Given the description of an element on the screen output the (x, y) to click on. 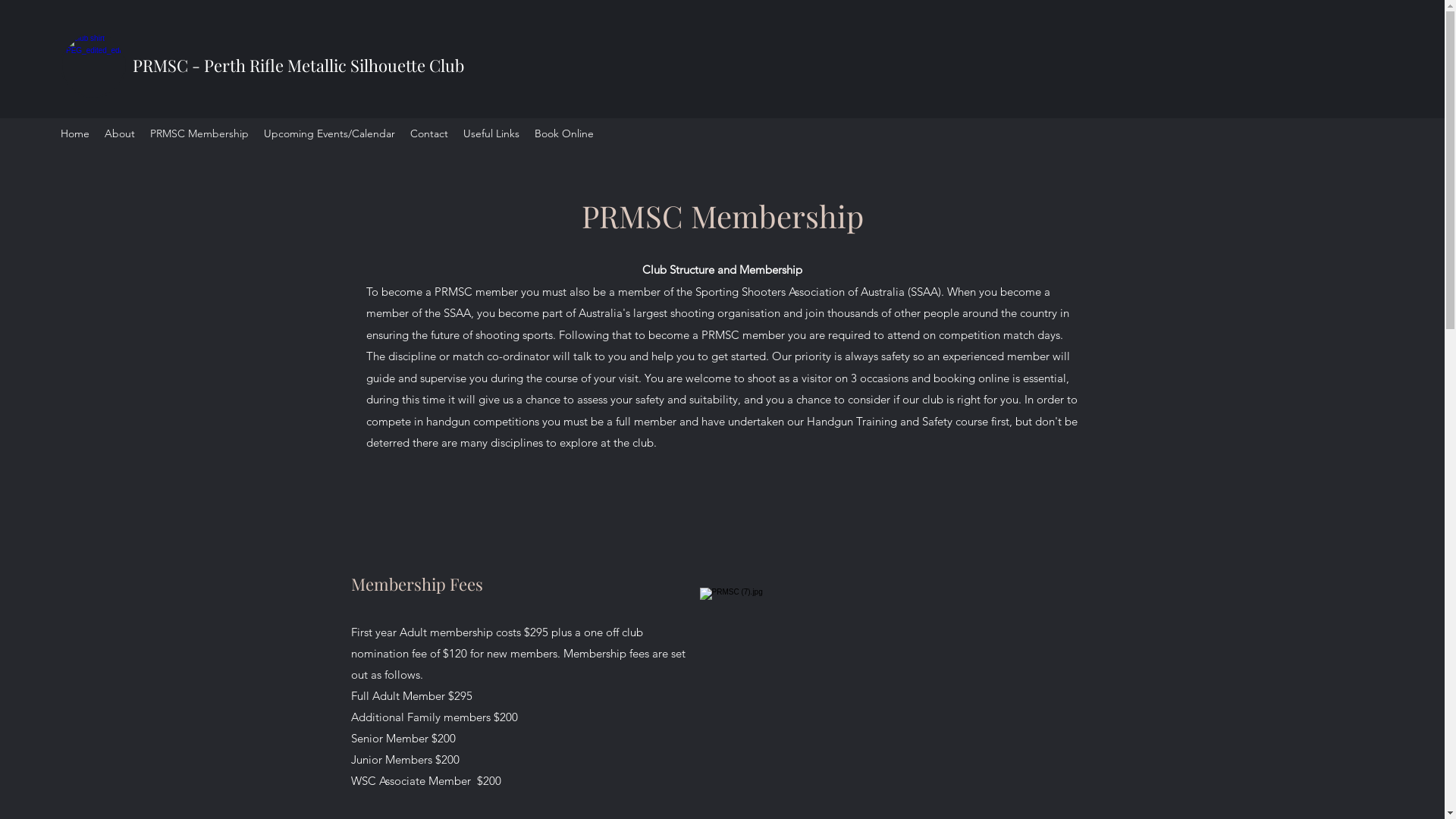
Book Online Element type: text (564, 133)
Contact Element type: text (428, 133)
About Element type: text (119, 133)
Upcoming Events/Calendar Element type: text (329, 133)
PRMSC Membership Element type: text (199, 133)
PRMSC - Perth Rifle Metallic Silhouette Club  Element type: text (299, 64)
Home Element type: text (75, 133)
Useful Links Element type: text (491, 133)
